Given the description of an element on the screen output the (x, y) to click on. 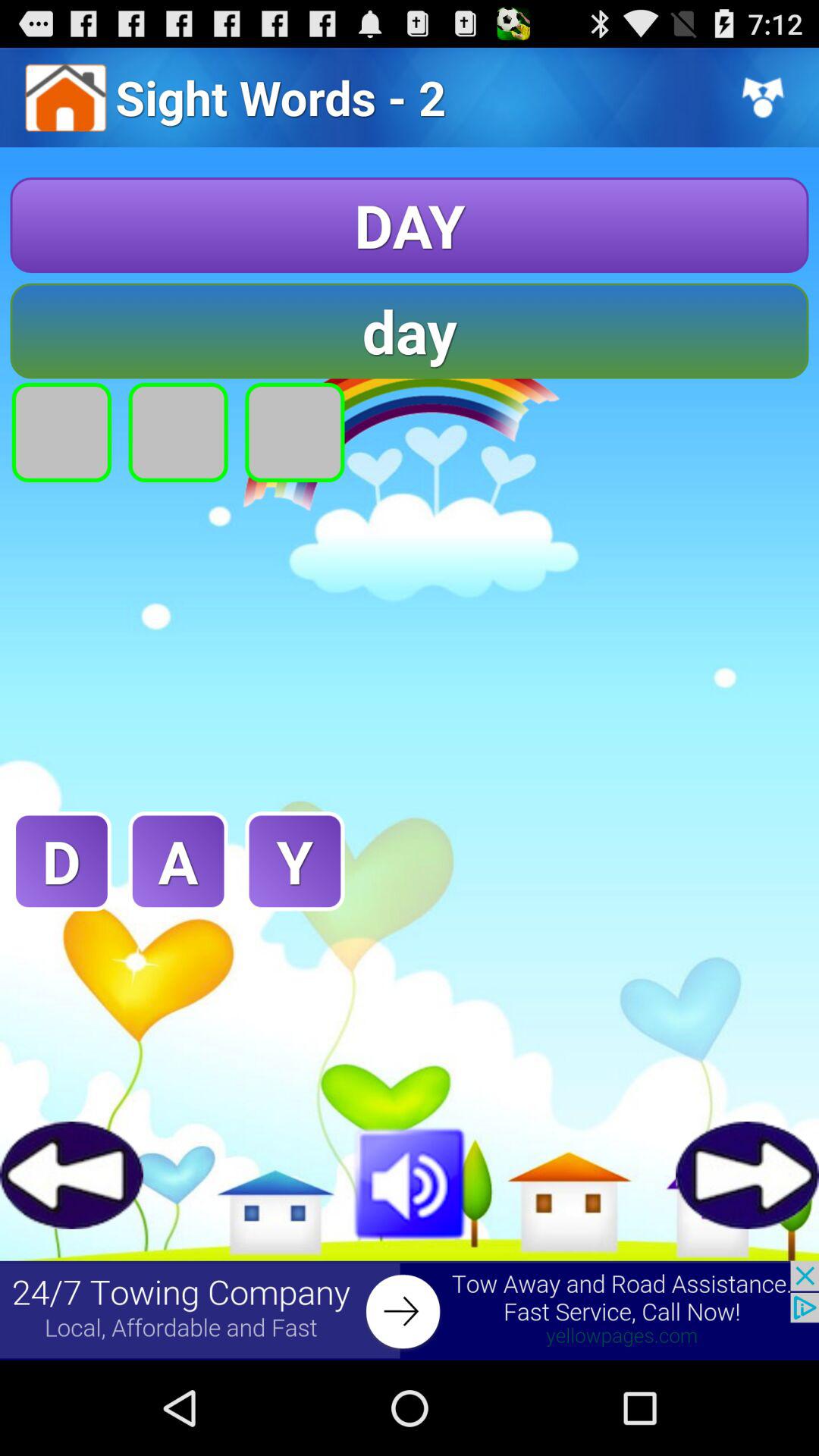
advance forward (747, 1175)
